Given the description of an element on the screen output the (x, y) to click on. 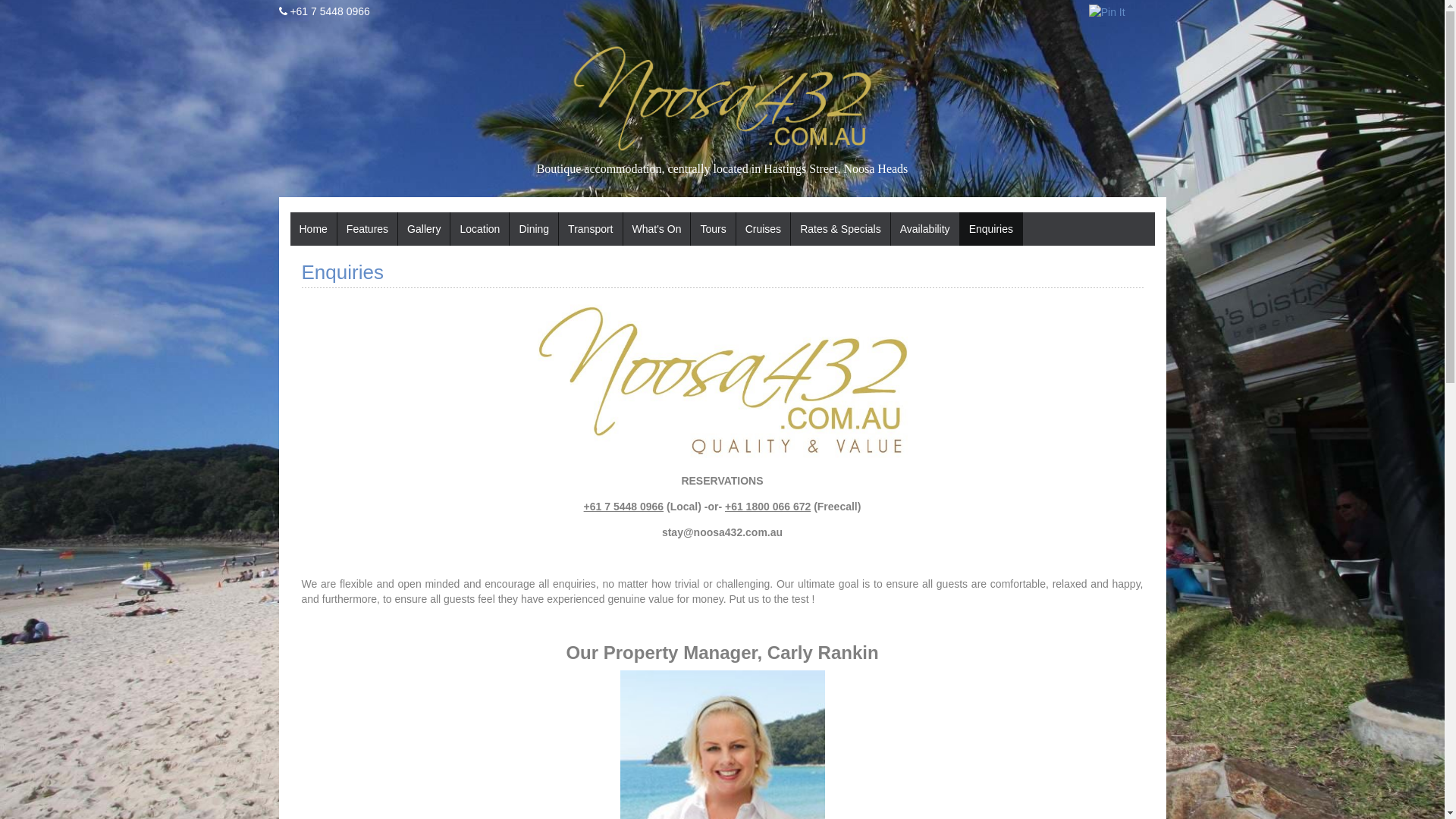
Location Element type: text (479, 228)
Tours Element type: text (712, 228)
Enquiries Element type: text (991, 228)
Pin It Element type: hover (1106, 11)
What's On Element type: text (656, 228)
+61 7 5448 0966 Element type: text (329, 11)
Features Element type: text (367, 228)
Gallery Element type: text (423, 228)
Transport Element type: text (589, 228)
Rates & Specials Element type: text (840, 228)
Dining Element type: text (533, 228)
Availability Element type: text (925, 228)
+61 1800 066 672 Element type: text (767, 506)
Cruises Element type: text (763, 228)
Home Element type: text (312, 228)
+61 7 5448 0966 Element type: text (623, 506)
stay@noosa432.com.au Element type: text (722, 532)
